Given the description of an element on the screen output the (x, y) to click on. 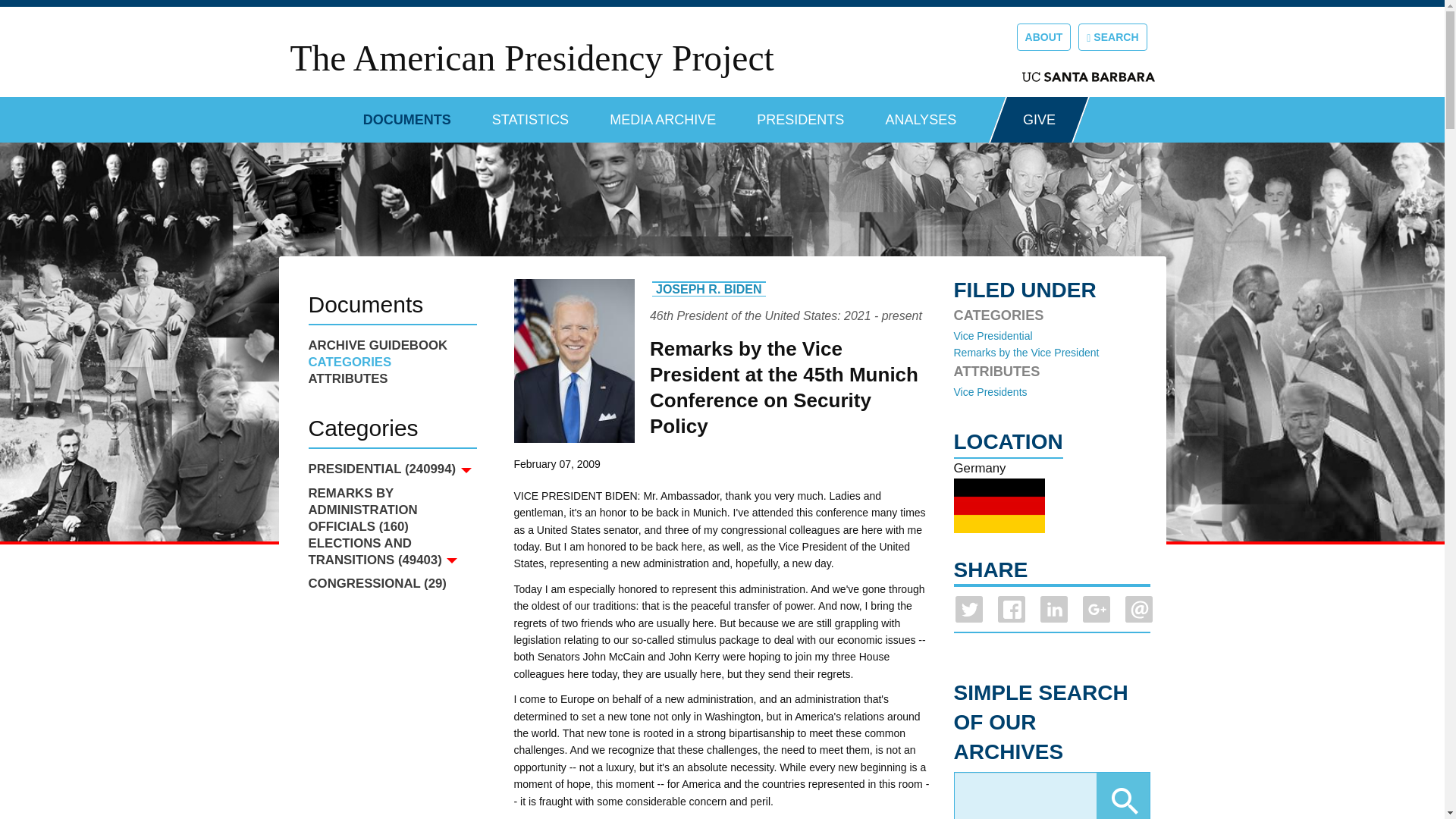
 SEARCH (1112, 36)
DOCUMENTS (406, 113)
ARCHIVE GUIDEBOOK (391, 345)
The American Presidency Project (531, 57)
MEDIA ARCHIVE (663, 113)
PRESIDENTS (800, 113)
GIVE (1038, 119)
STATISTICS (530, 113)
ABOUT (1043, 36)
CATEGORIES (391, 362)
ANALYSES (920, 113)
ATTRIBUTES (391, 379)
